Given the description of an element on the screen output the (x, y) to click on. 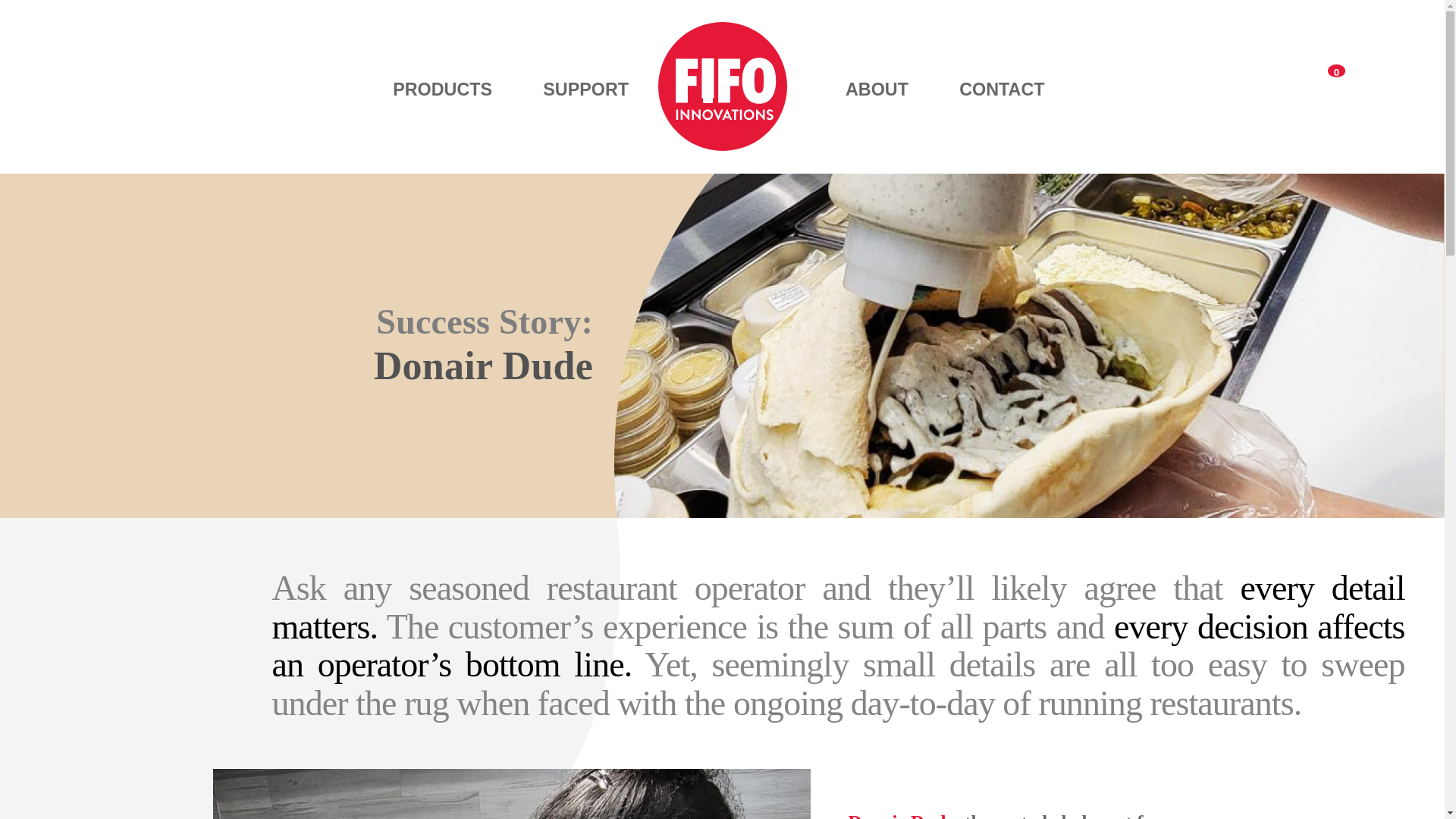
SUPPORT (585, 89)
CONTACT (1001, 89)
PRODUCTS (442, 126)
ABOUT (876, 89)
Donair Dude (900, 815)
